Given the description of an element on the screen output the (x, y) to click on. 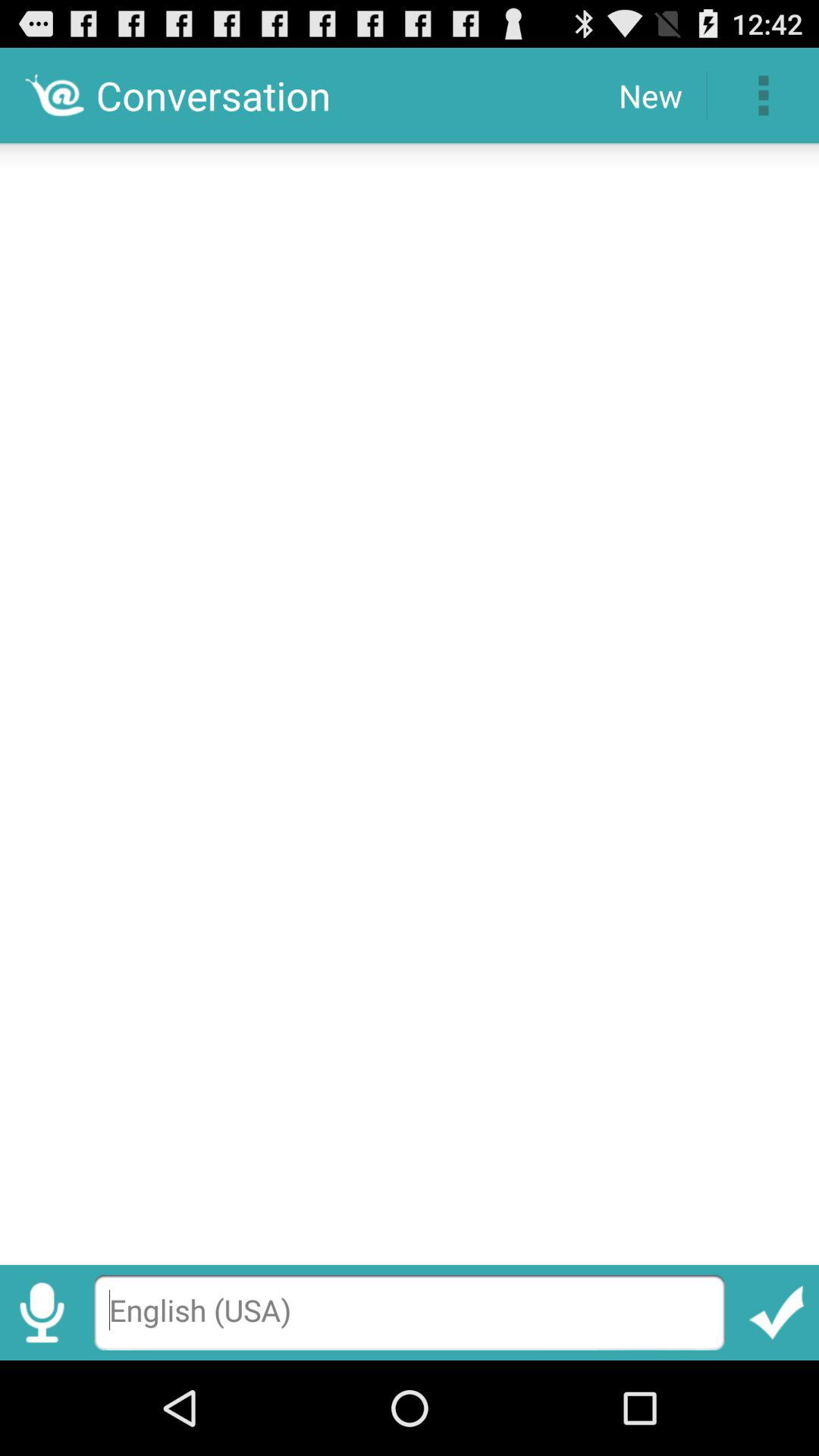
tap item at the center (409, 698)
